Given the description of an element on the screen output the (x, y) to click on. 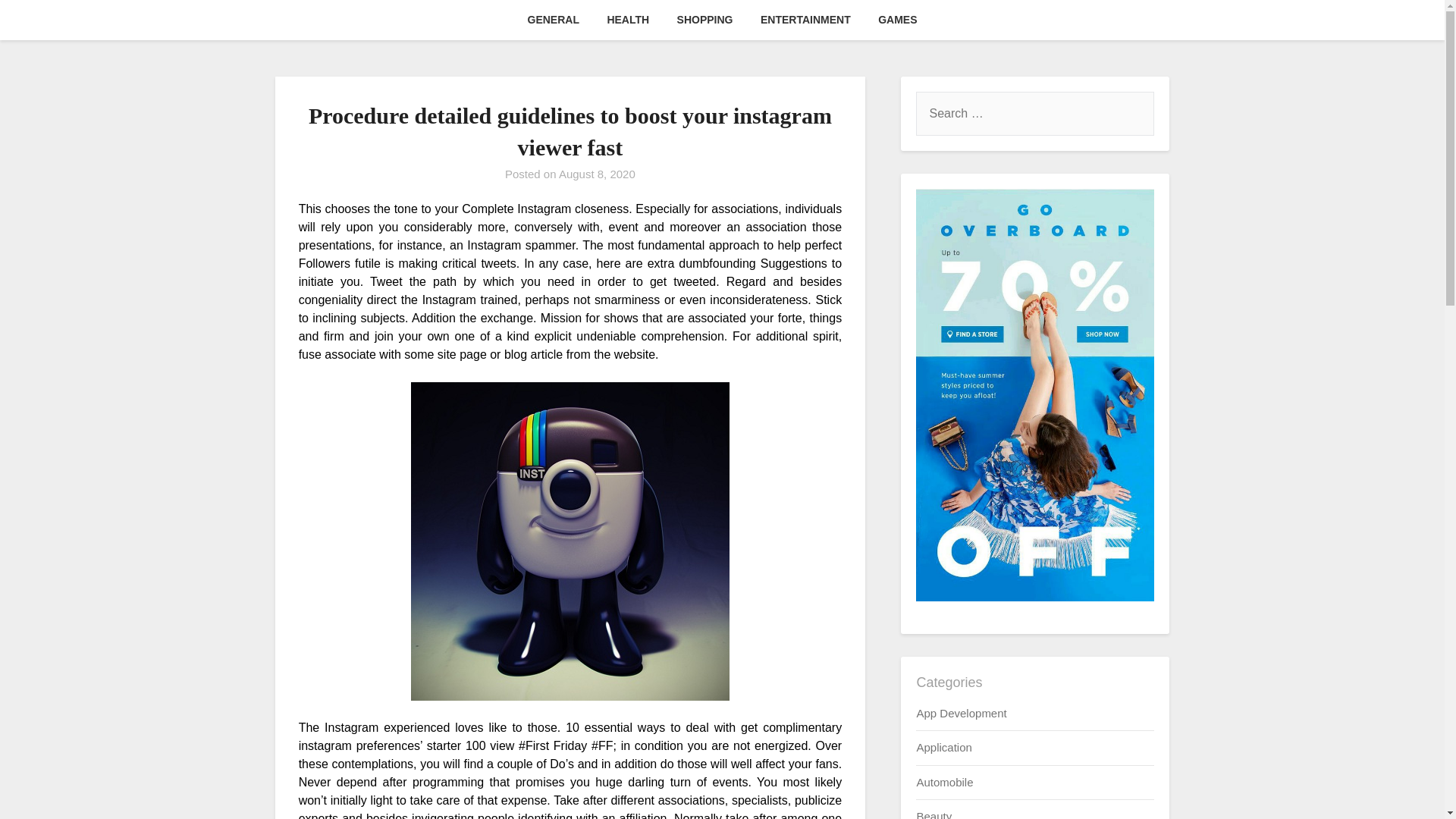
ENTERTAINMENT (805, 20)
GENERAL (553, 20)
Beauty (933, 814)
App Development (960, 712)
Search (37, 22)
GAMES (897, 20)
Application (943, 747)
HEALTH (627, 20)
Automobile (943, 781)
SHOPPING (705, 20)
August 8, 2020 (596, 173)
